Given the description of an element on the screen output the (x, y) to click on. 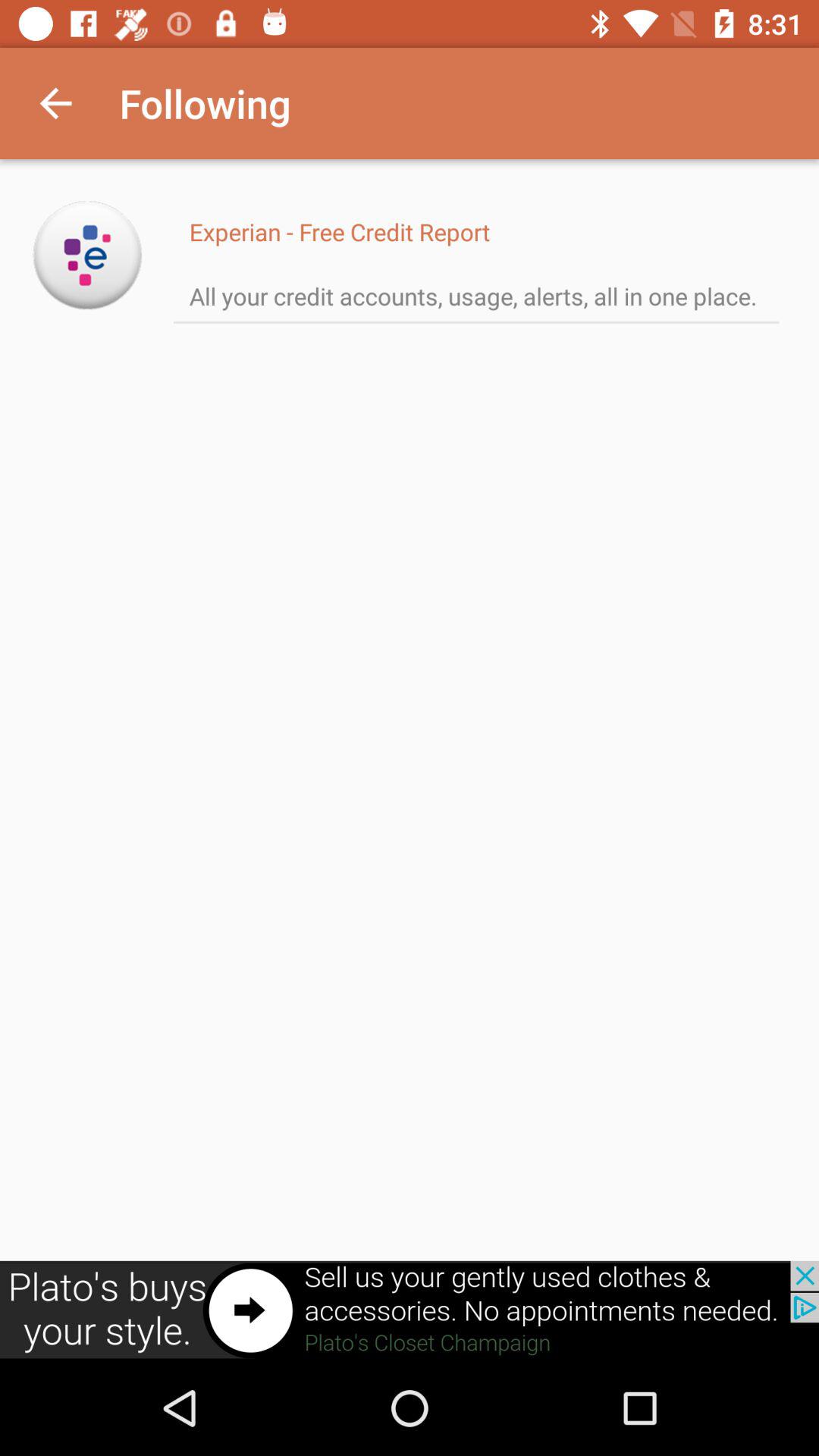
advertisement for plato 's closet (409, 1310)
